Given the description of an element on the screen output the (x, y) to click on. 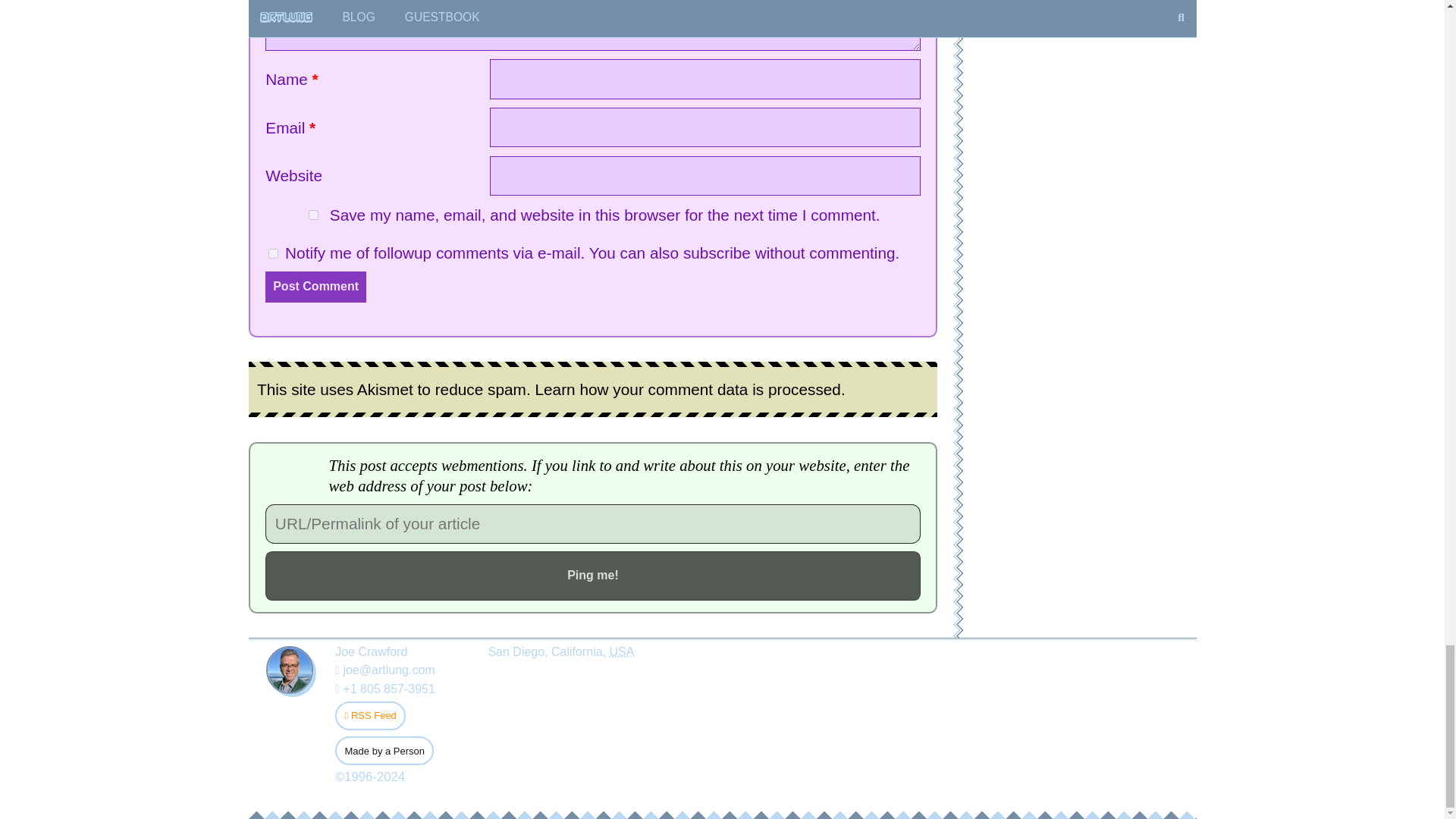
Learn how your comment data is processed (687, 389)
subscribe (716, 252)
yes (272, 253)
Post Comment (315, 286)
Ping me! (592, 575)
yes (313, 214)
Post Comment (315, 286)
Ping me! (592, 575)
